Given the description of an element on the screen output the (x, y) to click on. 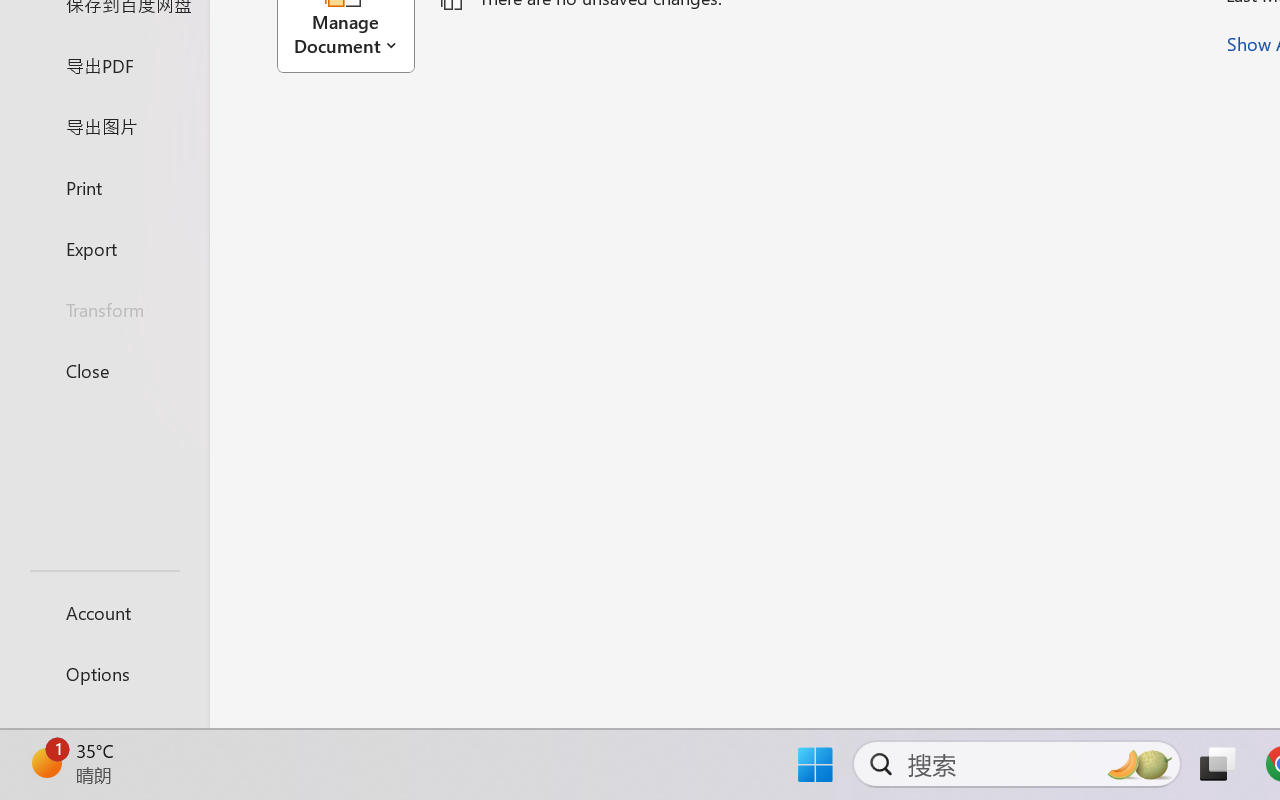
Log-in now (412, 680)
